Given the description of an element on the screen output the (x, y) to click on. 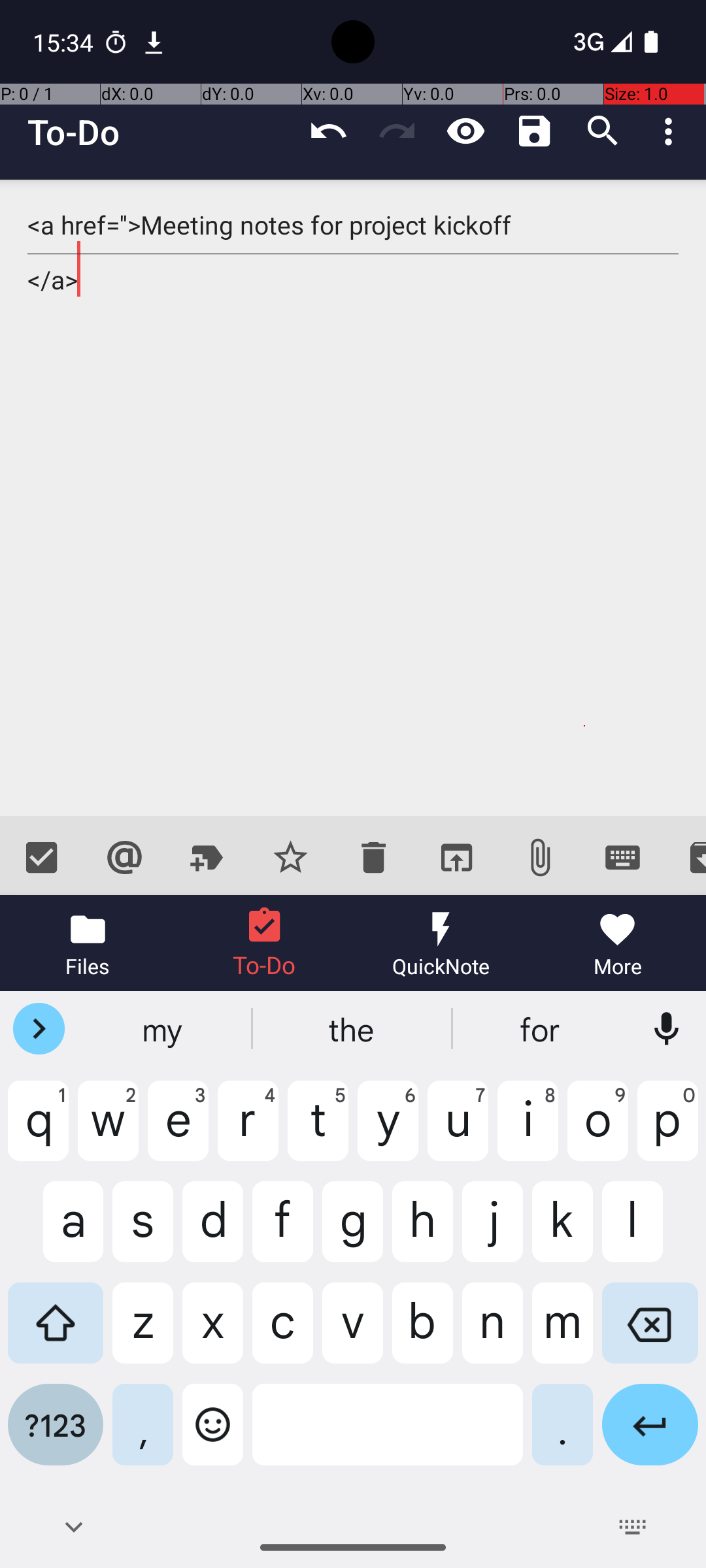
<a href=''>Meeting notes for project kickoff
</a> Element type: android.widget.EditText (353, 497)
my Element type: android.widget.FrameLayout (163, 1028)
the Element type: android.widget.FrameLayout (352, 1028)
for Element type: android.widget.FrameLayout (541, 1028)
